Given the description of an element on the screen output the (x, y) to click on. 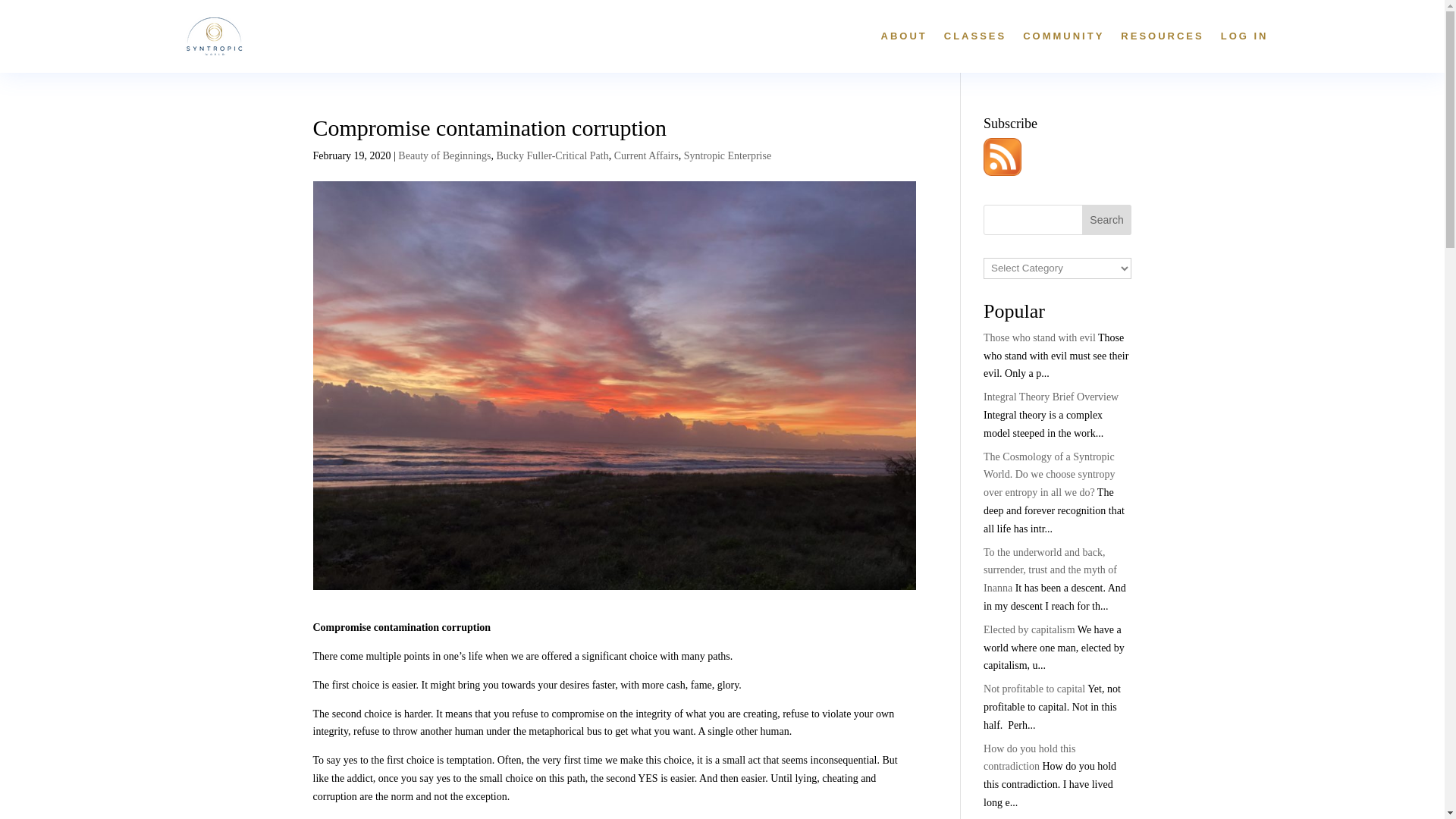
Search (1106, 219)
RESOURCES (1162, 36)
CLASSES (974, 36)
COMMUNITY (1063, 36)
